Given the description of an element on the screen output the (x, y) to click on. 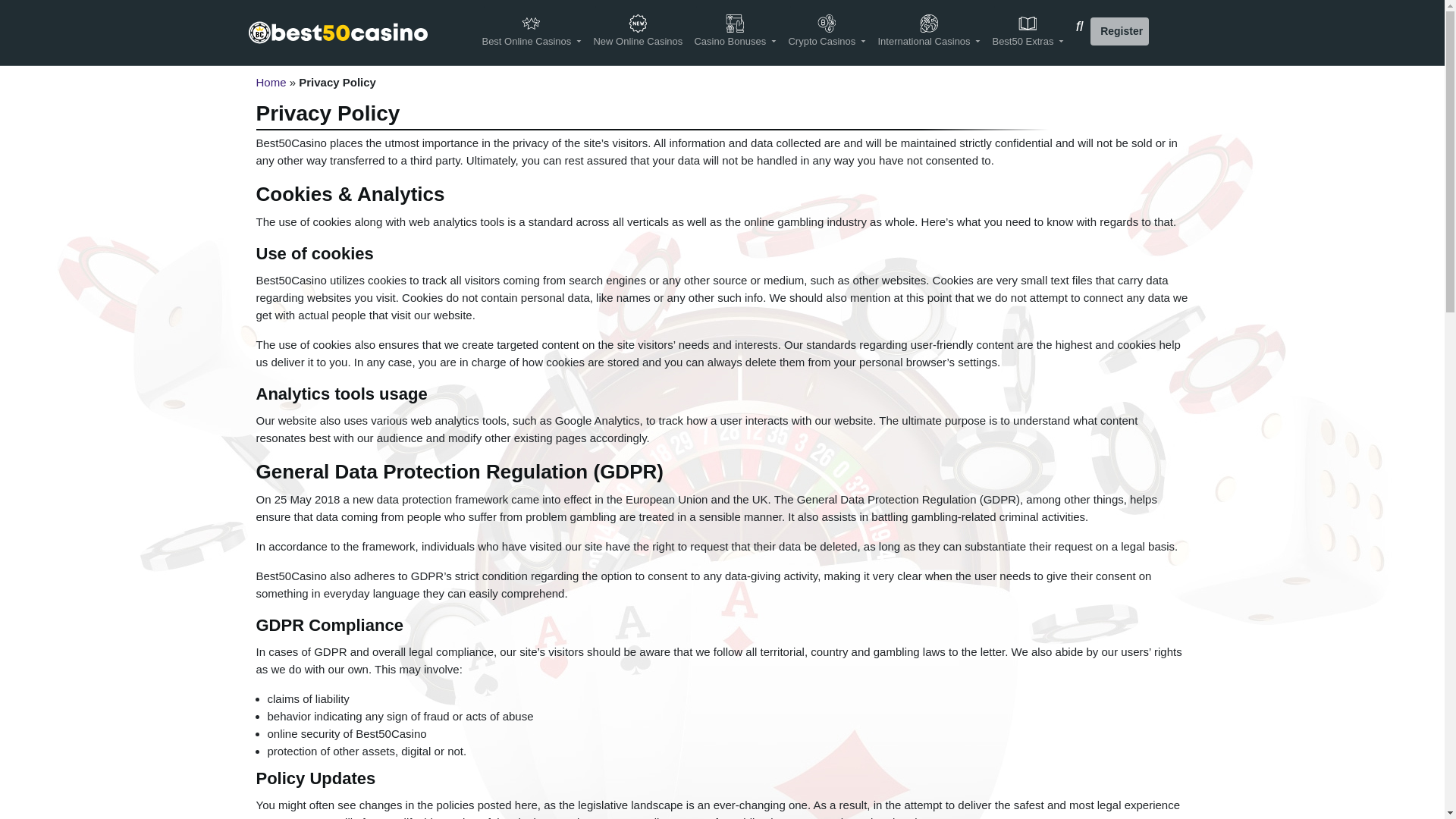
Casino Bonuses (735, 32)
New Online Casinos (637, 32)
Best Online Casinos (531, 32)
